Given the description of an element on the screen output the (x, y) to click on. 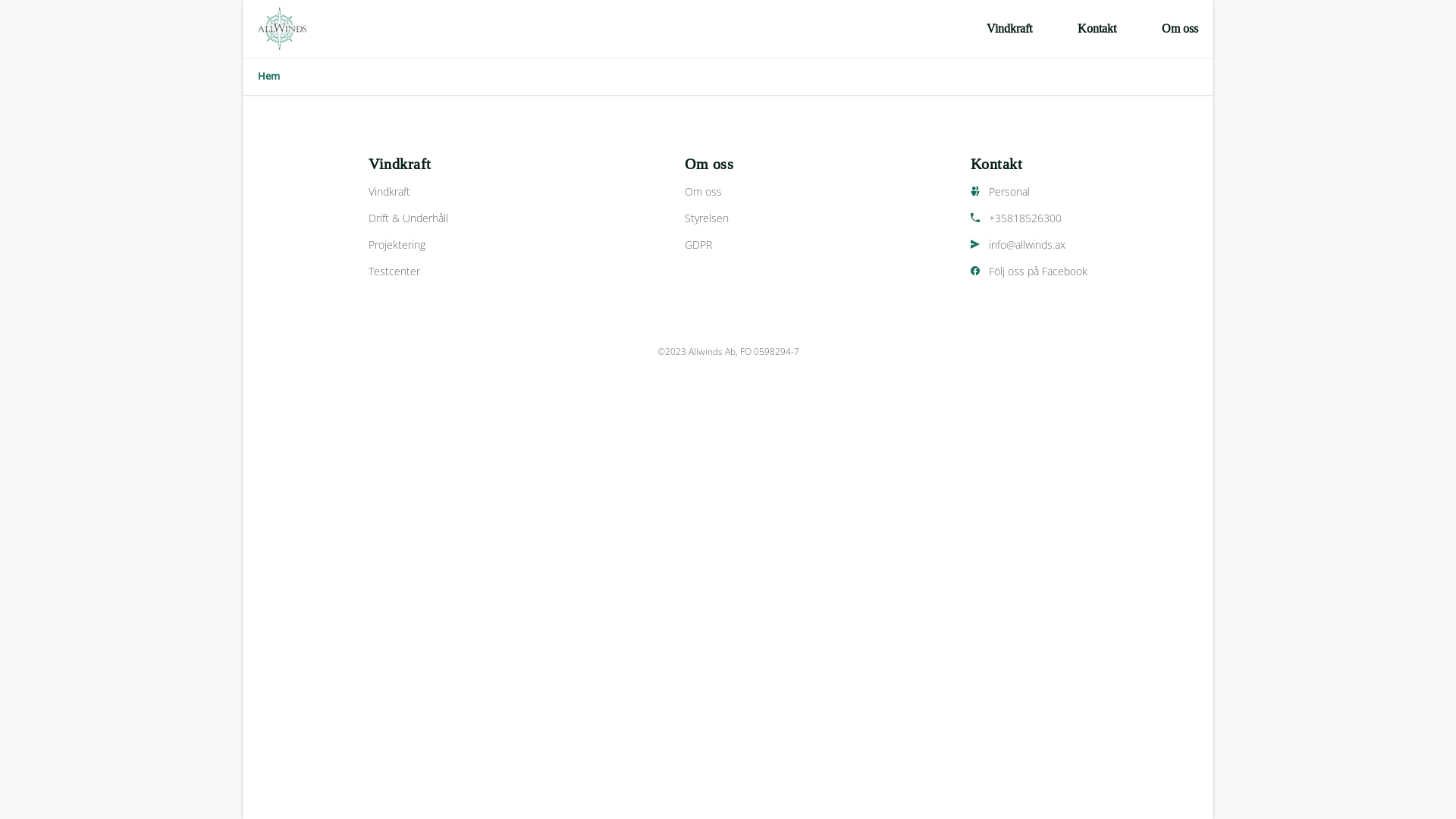
Styrelsen Element type: text (708, 217)
Hem Element type: text (268, 76)
GDPR Element type: text (708, 243)
Kontakt Element type: text (1096, 28)
info@allwinds.ax Element type: text (1028, 243)
Vindkraft Element type: text (408, 190)
Vindkraft Element type: text (1009, 28)
Projektering Element type: text (408, 243)
Personal Element type: text (1028, 190)
Allwinds Element type: text (281, 28)
Om oss Element type: text (1179, 28)
Testcenter Element type: text (408, 270)
Om oss Element type: text (708, 190)
+35818526300 Element type: text (1028, 217)
